Given the description of an element on the screen output the (x, y) to click on. 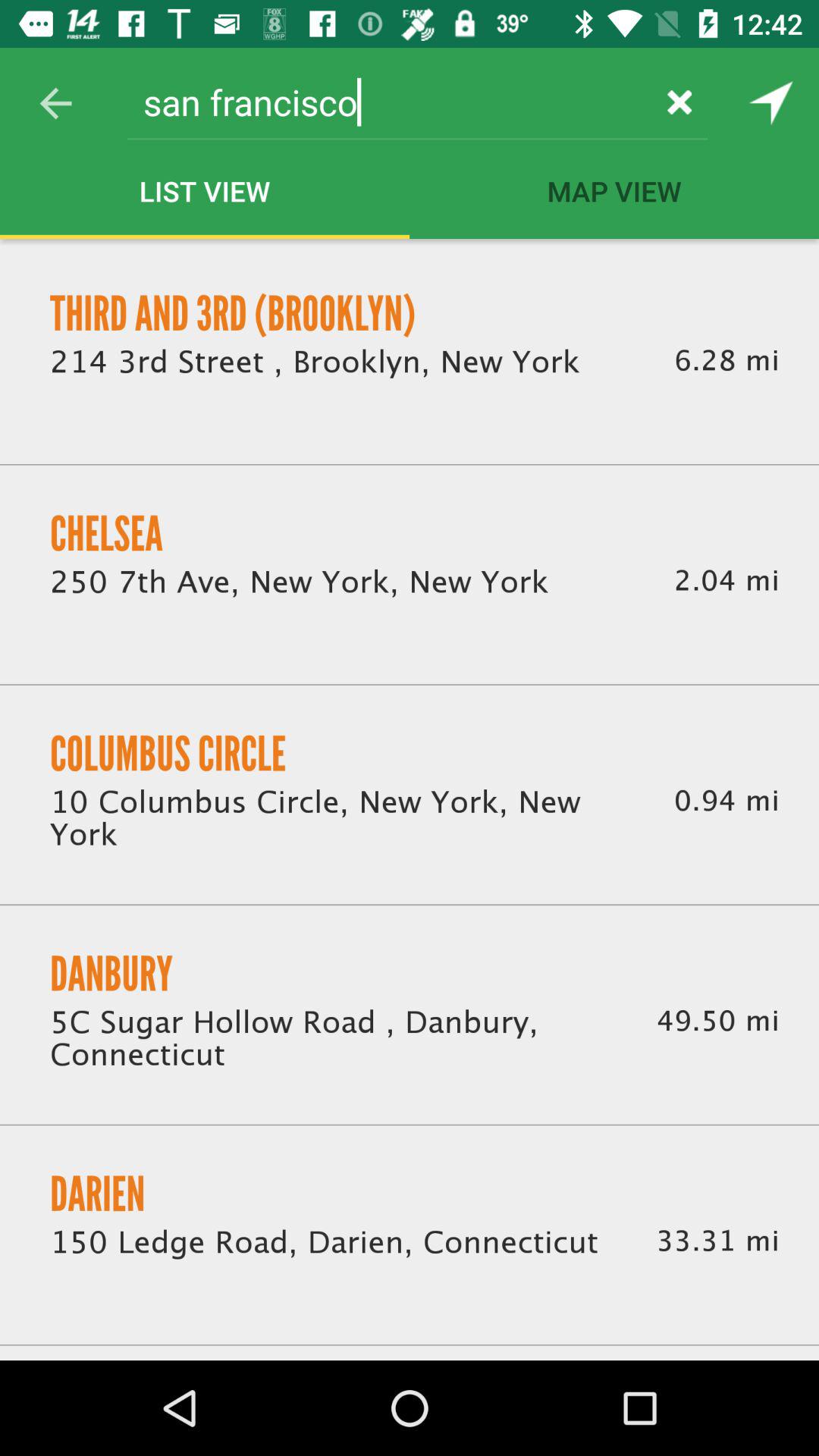
turn on san francisco item (389, 102)
